Given the description of an element on the screen output the (x, y) to click on. 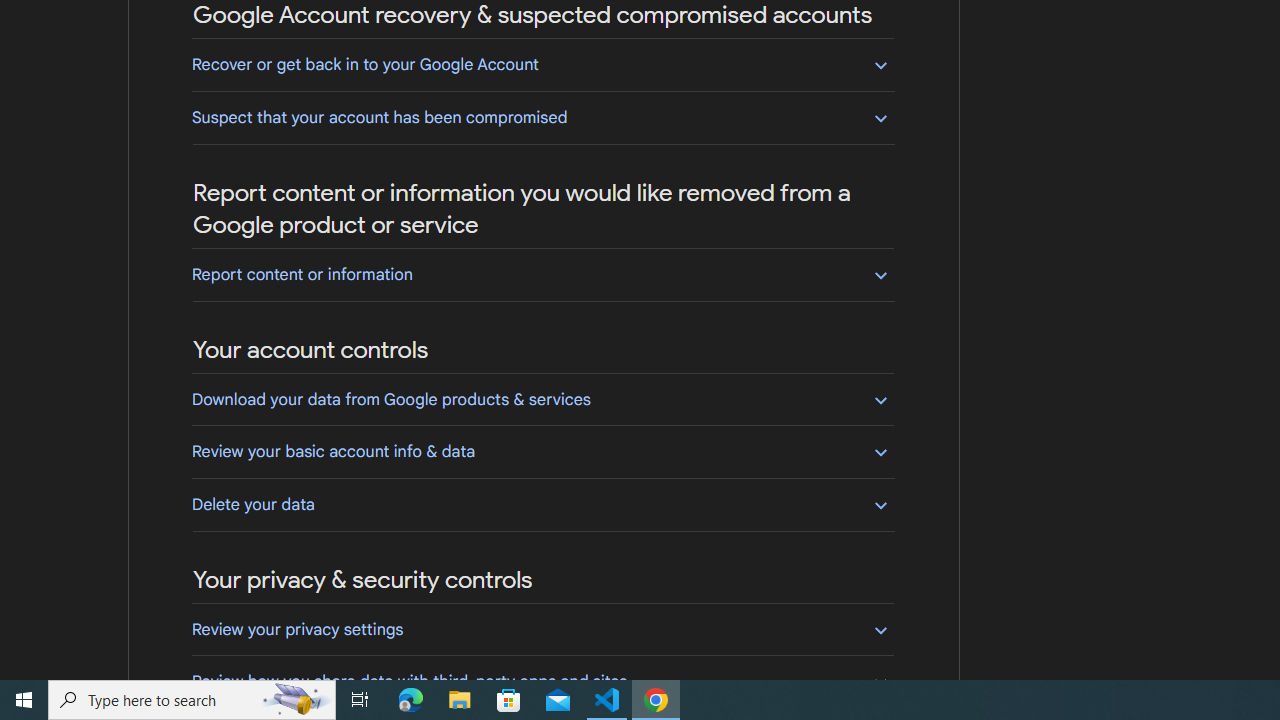
Review your privacy settings (542, 629)
Suspect that your account has been compromised (542, 117)
Download your data from Google products & services (542, 399)
Recover or get back in to your Google Account (542, 64)
Review how you share data with third-party apps and sites (542, 681)
Review your basic account info & data (542, 451)
Delete your data (542, 504)
Report content or information (542, 273)
